Given the description of an element on the screen output the (x, y) to click on. 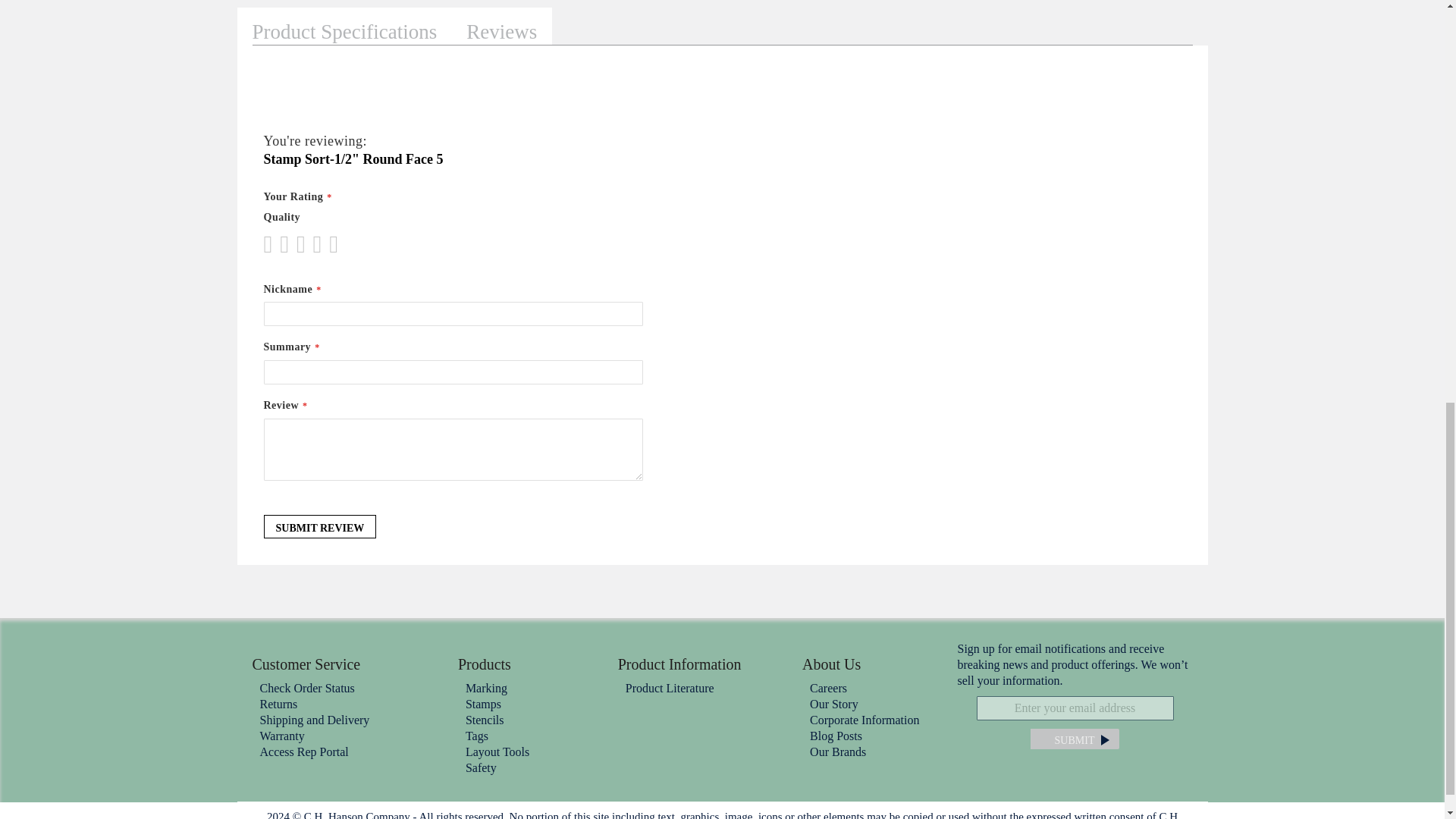
4 stars (296, 243)
2 stars (280, 243)
3 stars (288, 243)
5 stars (304, 243)
Subscribe (1073, 738)
